Given the description of an element on the screen output the (x, y) to click on. 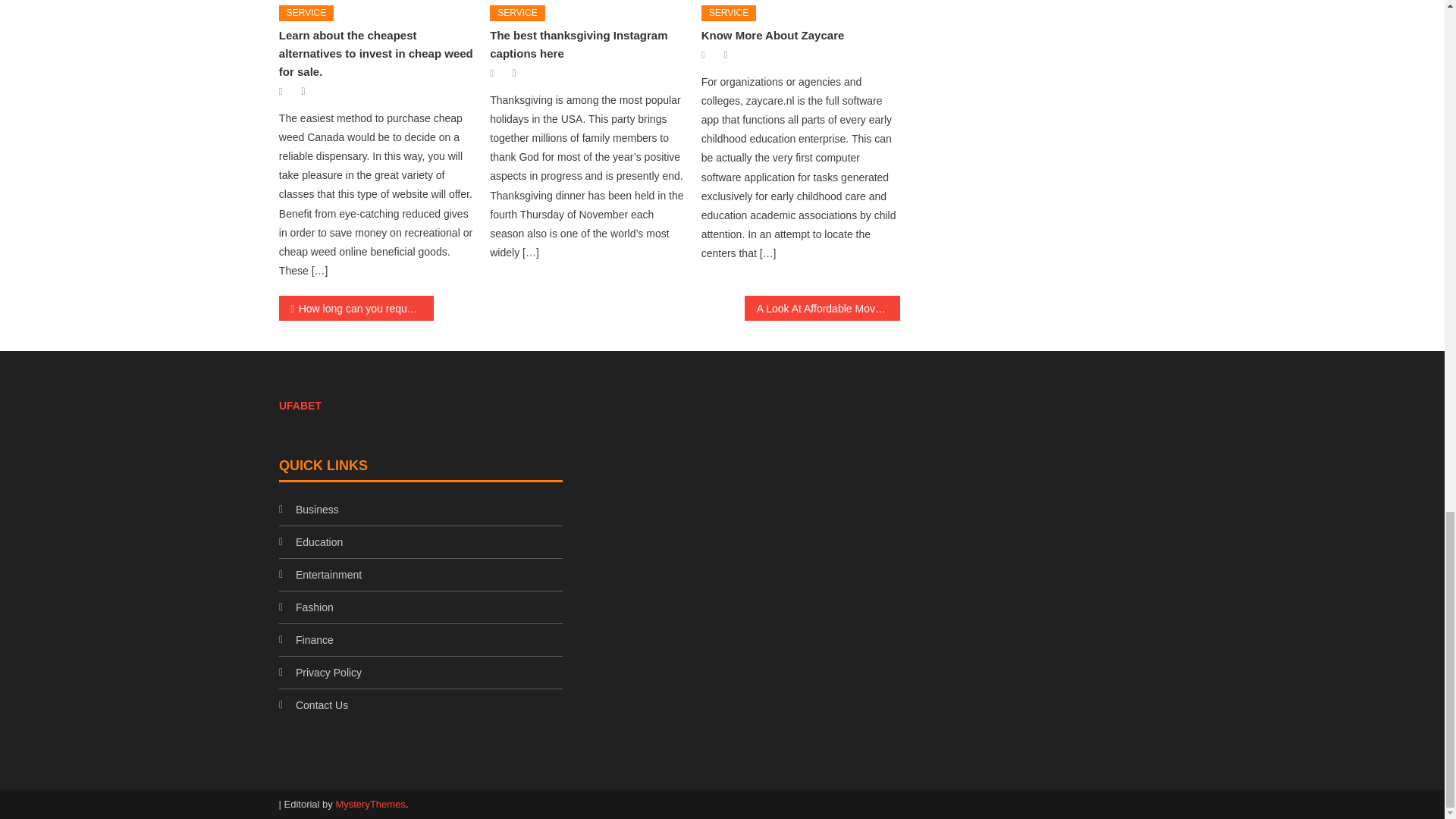
SERVICE (306, 13)
The best thanksgiving Instagram captions here (577, 43)
SERVICE (516, 13)
